Given the description of an element on the screen output the (x, y) to click on. 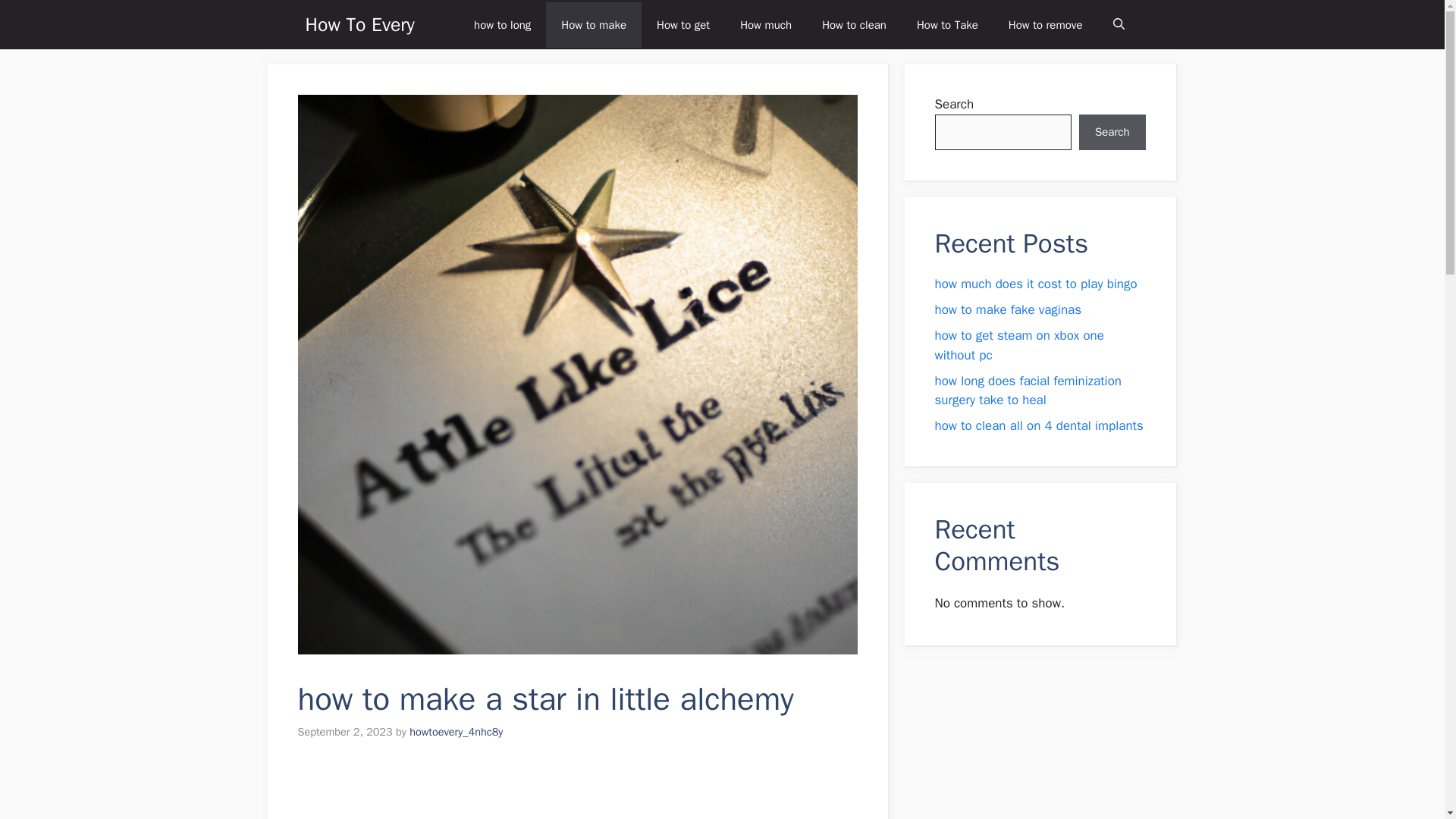
How to Take (946, 23)
How to make (594, 23)
How much (765, 23)
how to get steam on xbox one without pc (1018, 345)
How to clean (853, 23)
How to remove (1044, 23)
how much does it cost to play bingo (1035, 283)
how to make fake vaginas (1007, 309)
How to get (683, 23)
how to clean all on 4 dental implants (1038, 425)
How To Every (358, 24)
Search (1111, 131)
how to long (502, 23)
how long does facial feminization surgery take to heal (1027, 390)
